Given the description of an element on the screen output the (x, y) to click on. 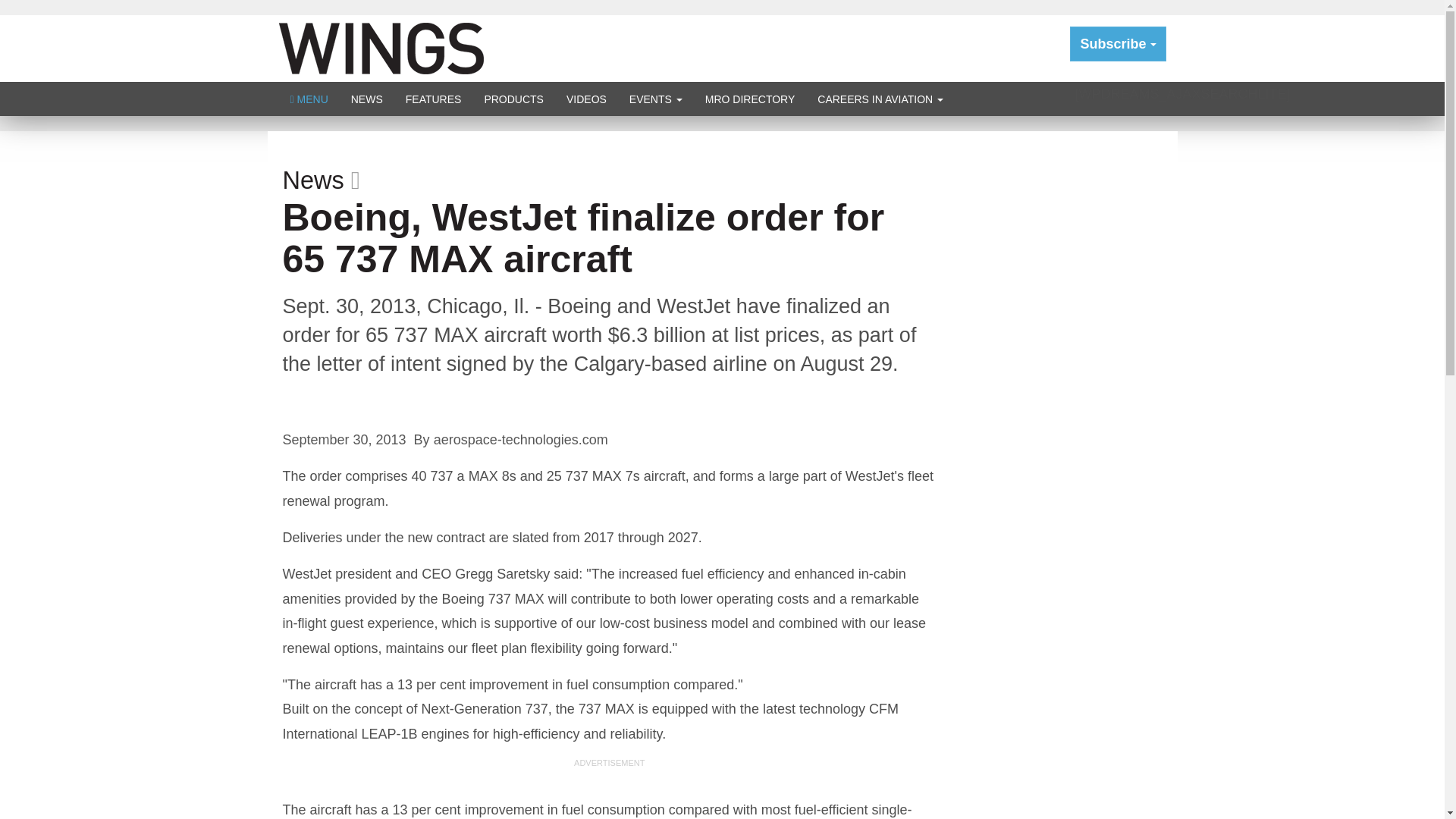
CAREERS IN AVIATION (880, 98)
PRODUCTS (512, 98)
NEWS (366, 98)
Wings Magazine (381, 47)
MRO DIRECTORY (750, 98)
Subscribe (1118, 43)
MENU (309, 98)
Click to show site navigation (309, 98)
EVENTS (655, 98)
VIDEOS (585, 98)
FEATURES (433, 98)
